Given the description of an element on the screen output the (x, y) to click on. 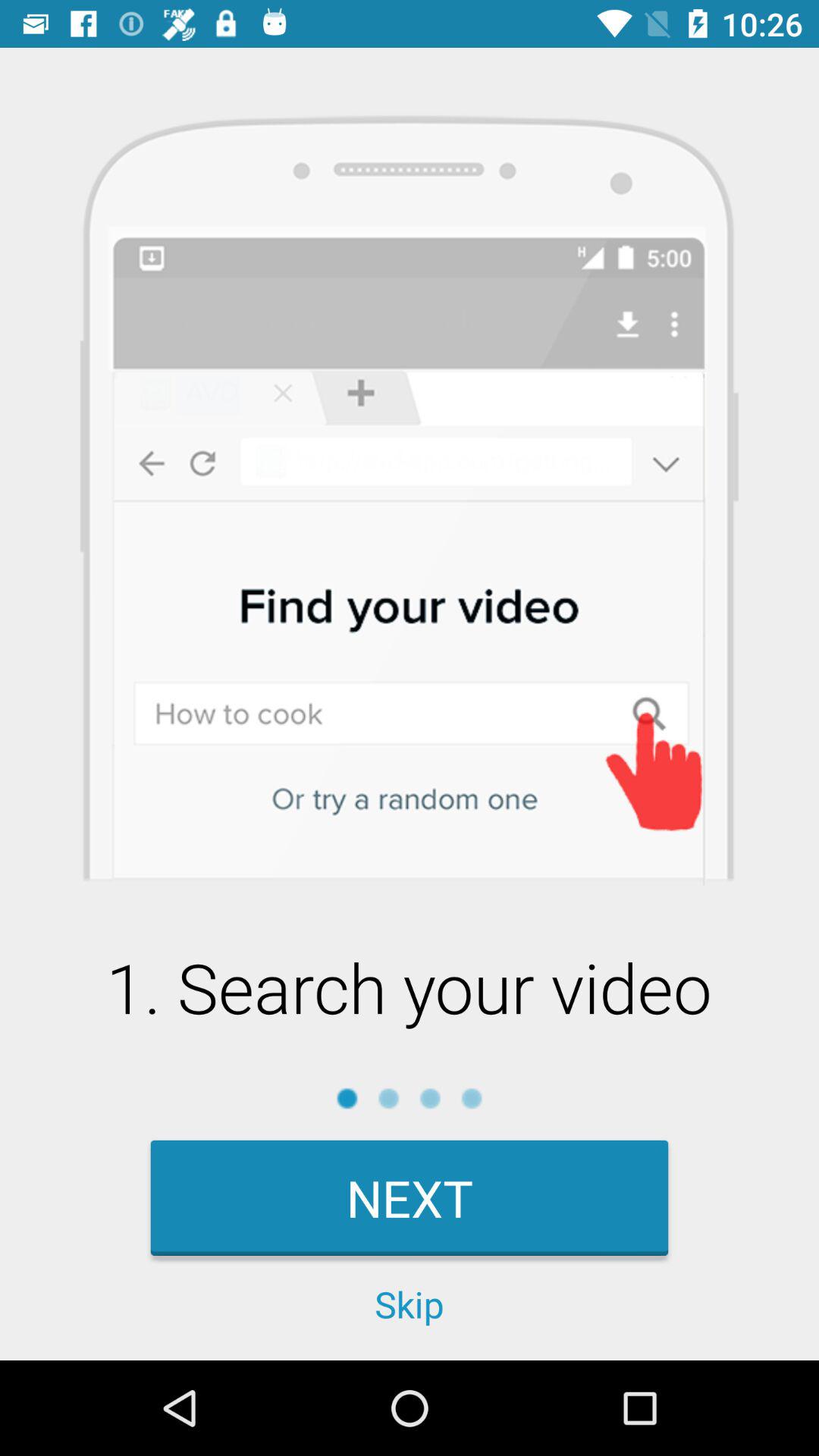
turn on the item above skip icon (409, 1197)
